Given the description of an element on the screen output the (x, y) to click on. 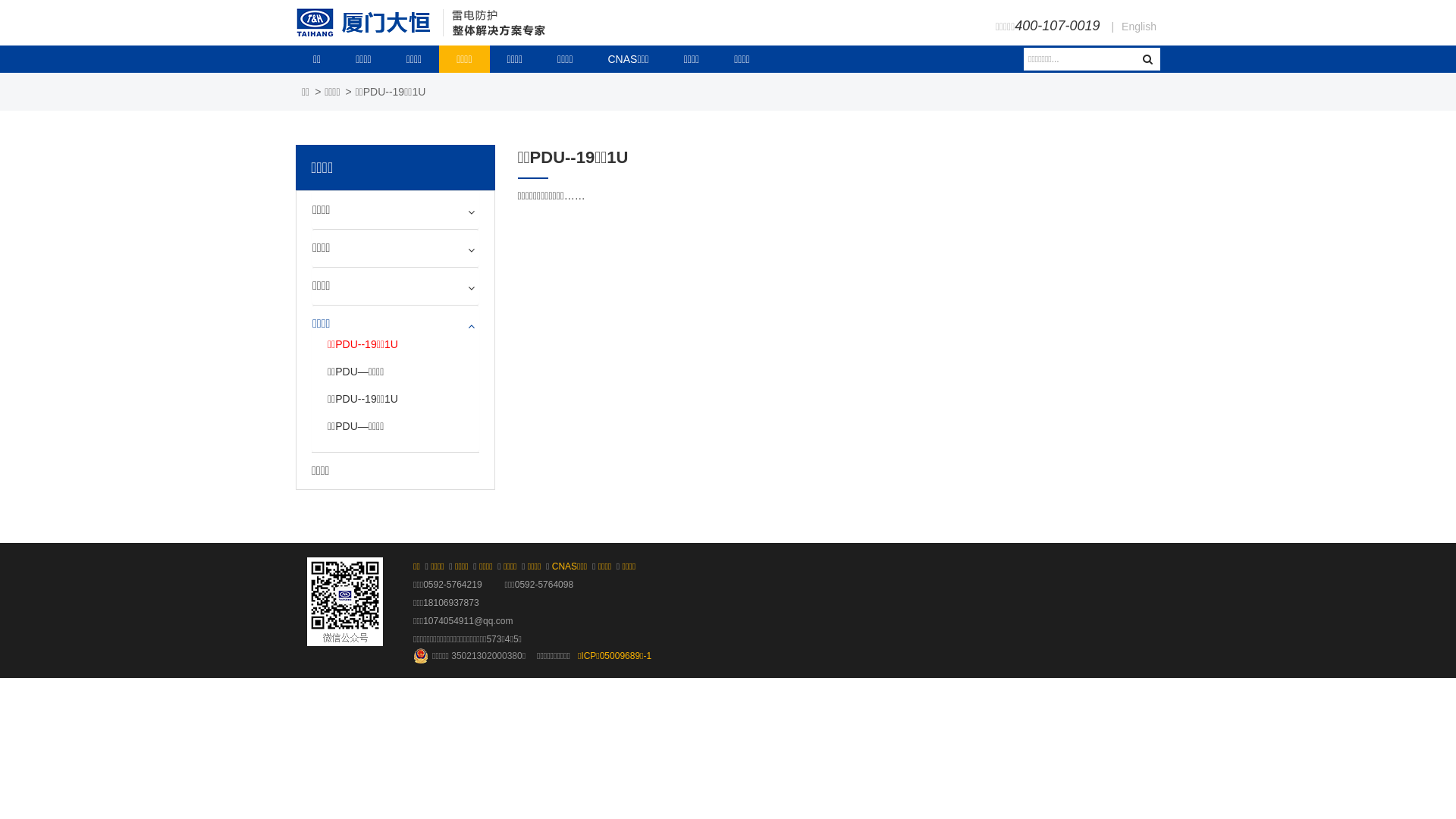
English Element type: text (1138, 26)
